Given the description of an element on the screen output the (x, y) to click on. 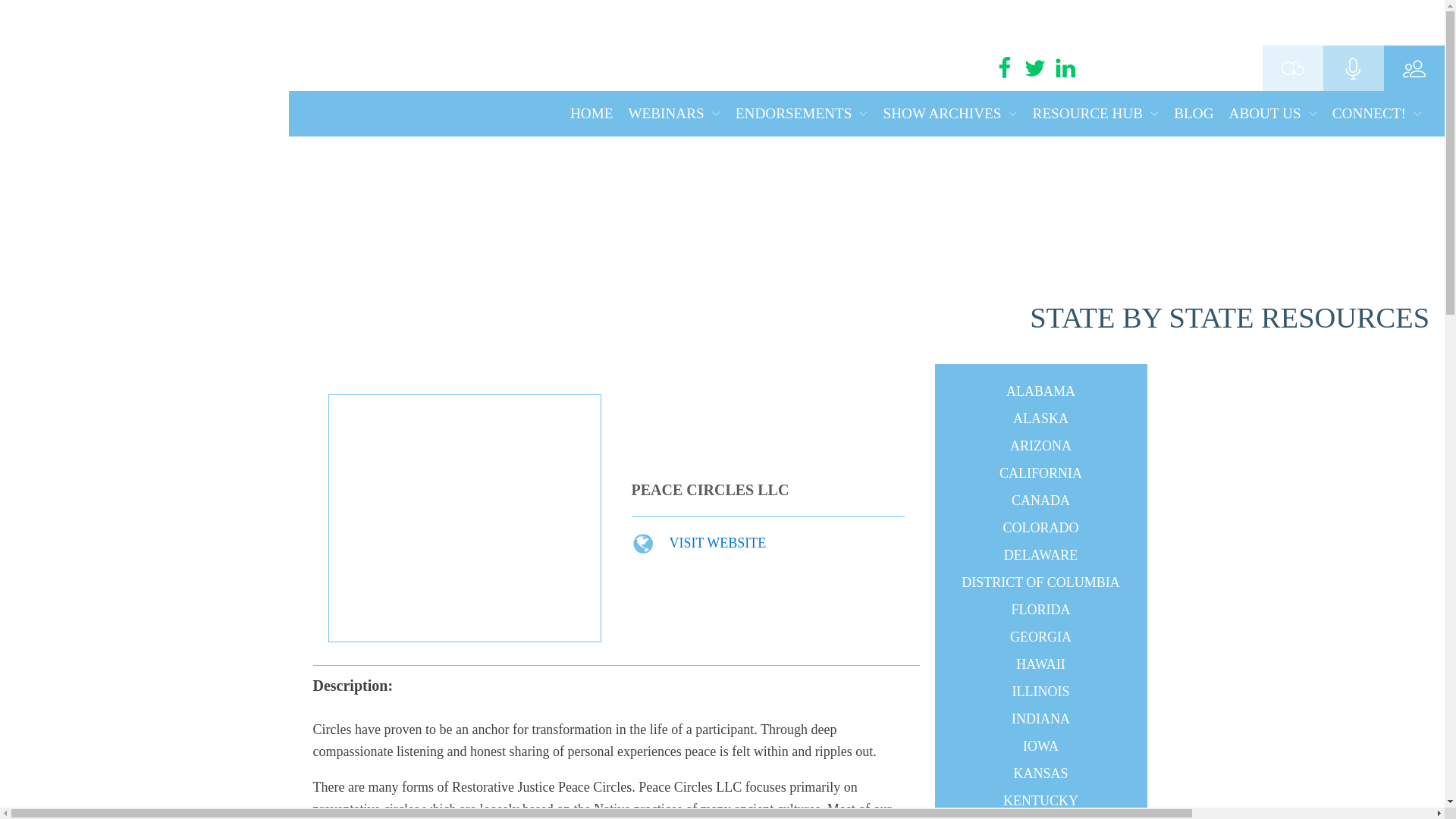
SHOW ARCHIVES (950, 114)
WEBINARS (673, 114)
JOIN US TODAY! (1177, 68)
ENDORSEMENTS (801, 114)
HOME (591, 114)
RESOURCE HUB (1095, 114)
